Given the description of an element on the screen output the (x, y) to click on. 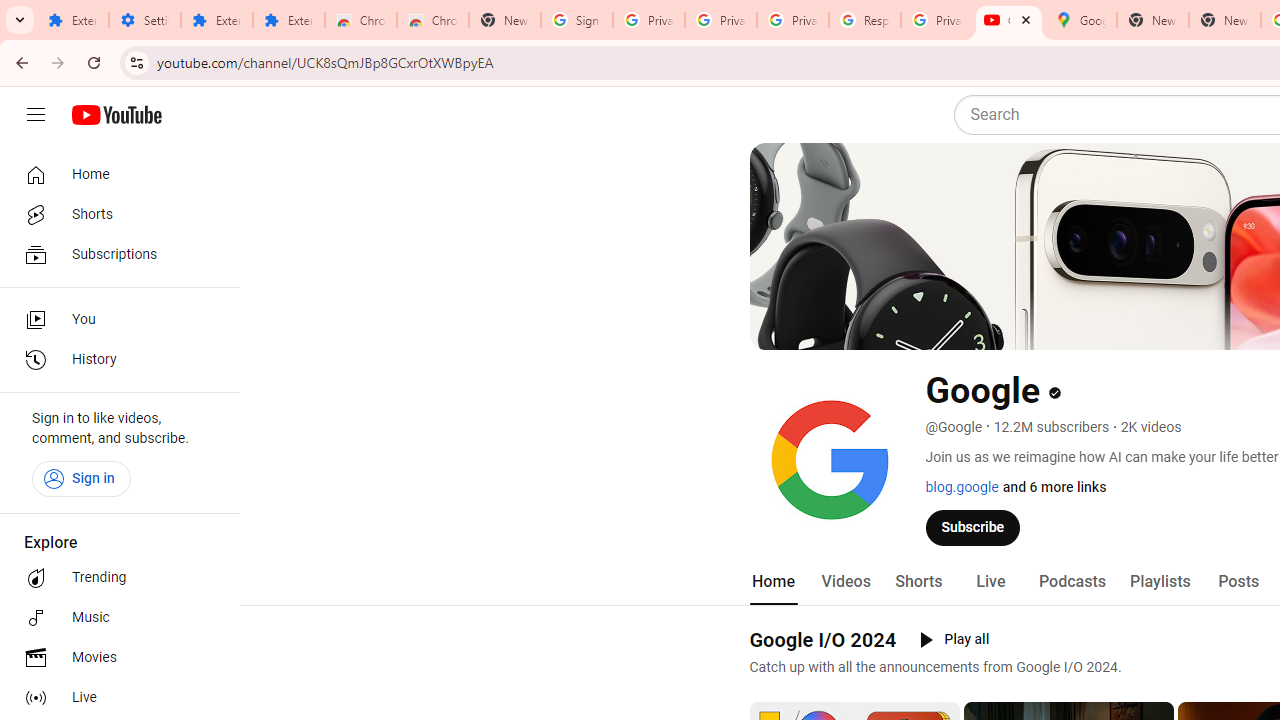
Chrome Web Store - Themes (432, 20)
Music (113, 617)
Posts (1238, 581)
